Given the description of an element on the screen output the (x, y) to click on. 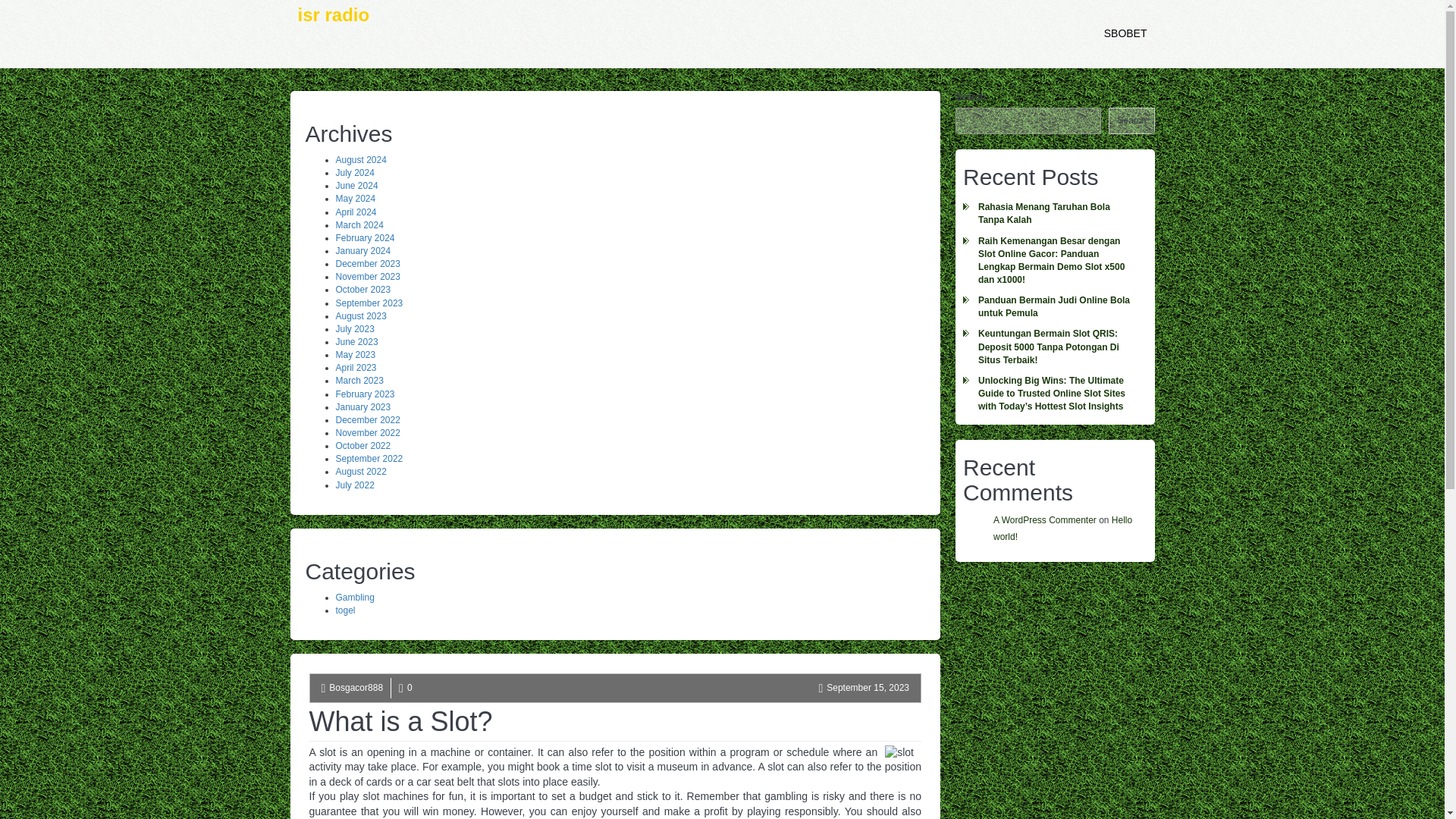
October 2023 (362, 289)
May 2024 (354, 198)
February 2023 (364, 394)
May 2023 (354, 354)
August 2022 (359, 471)
Search (1131, 120)
December 2022 (366, 419)
July 2024 (354, 172)
Bosgacor888 (355, 687)
April 2023 (354, 367)
March 2023 (358, 380)
March 2024 (358, 225)
August 2023 (359, 316)
April 2024 (354, 212)
June 2024 (355, 185)
